Given the description of an element on the screen output the (x, y) to click on. 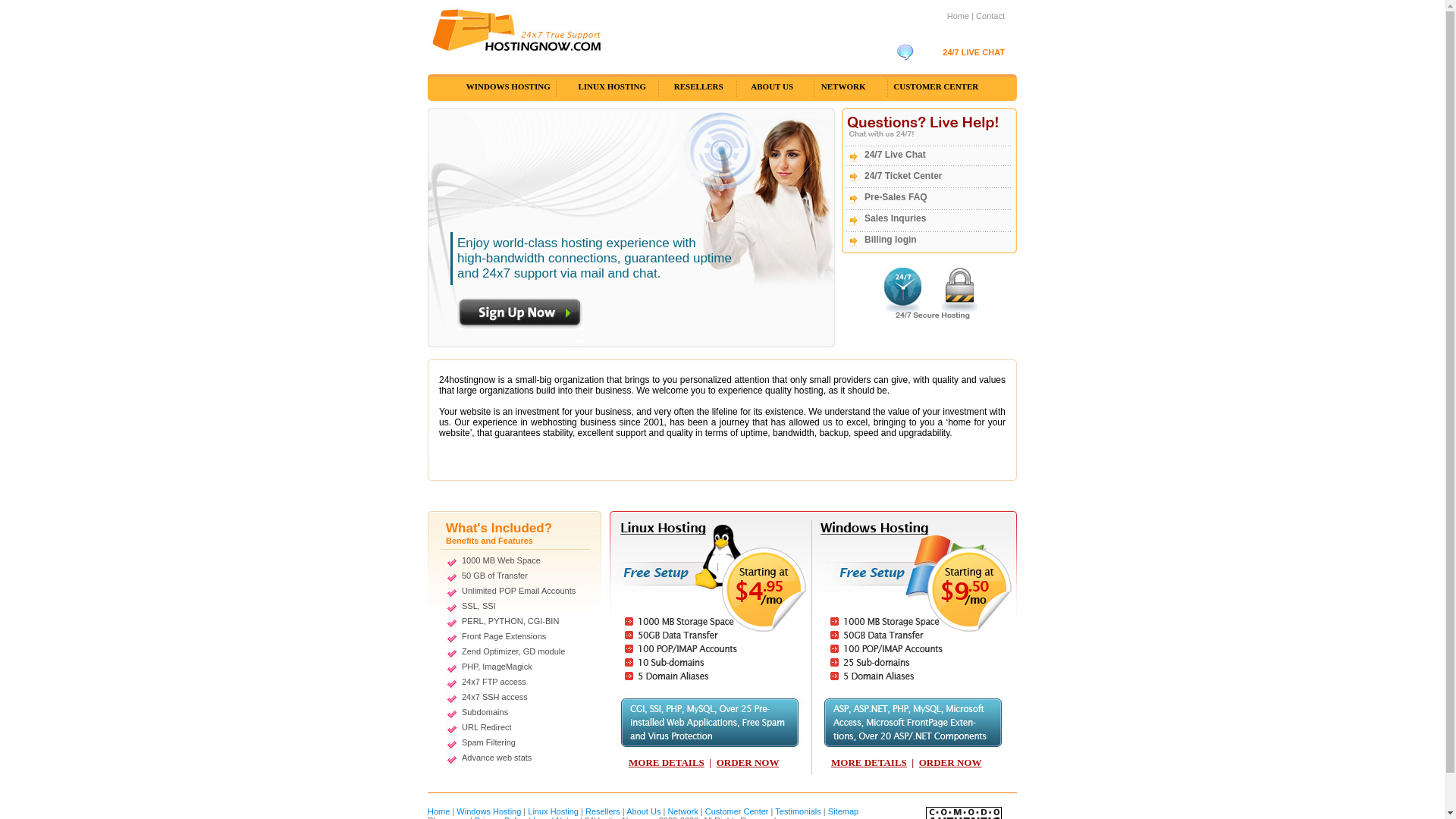
Resellers Element type: text (602, 810)
Home Element type: text (958, 15)
LINUX HOSTING Element type: text (611, 86)
ABOUT US Element type: text (771, 86)
Linux Hosting Element type: text (552, 810)
MORE DETAILS Element type: text (868, 762)
ORDER NOW Element type: text (950, 762)
NETWORK Element type: text (843, 86)
Contact Element type: text (989, 15)
ORDER NOW Element type: text (747, 762)
RESELLERS Element type: text (698, 86)
Sales Inquries Element type: text (894, 218)
Windows Hosting Element type: text (488, 810)
24/7 Live Chat Element type: text (894, 154)
24/7 LIVE CHAT Element type: text (973, 51)
24/7 Ticket Center Element type: text (903, 175)
About Us Element type: text (643, 810)
Billing login Element type: text (890, 239)
Network Element type: text (682, 810)
WINDOWS HOSTING Element type: text (508, 86)
MORE DETAILS Element type: text (666, 762)
Customer Center Element type: text (736, 810)
Testimonials Element type: text (798, 810)
Sitemap Element type: text (843, 810)
CUSTOMER CENTER Element type: text (935, 86)
Pre-Sales FAQ Element type: text (895, 196)
Home Element type: text (439, 810)
